Given the description of an element on the screen output the (x, y) to click on. 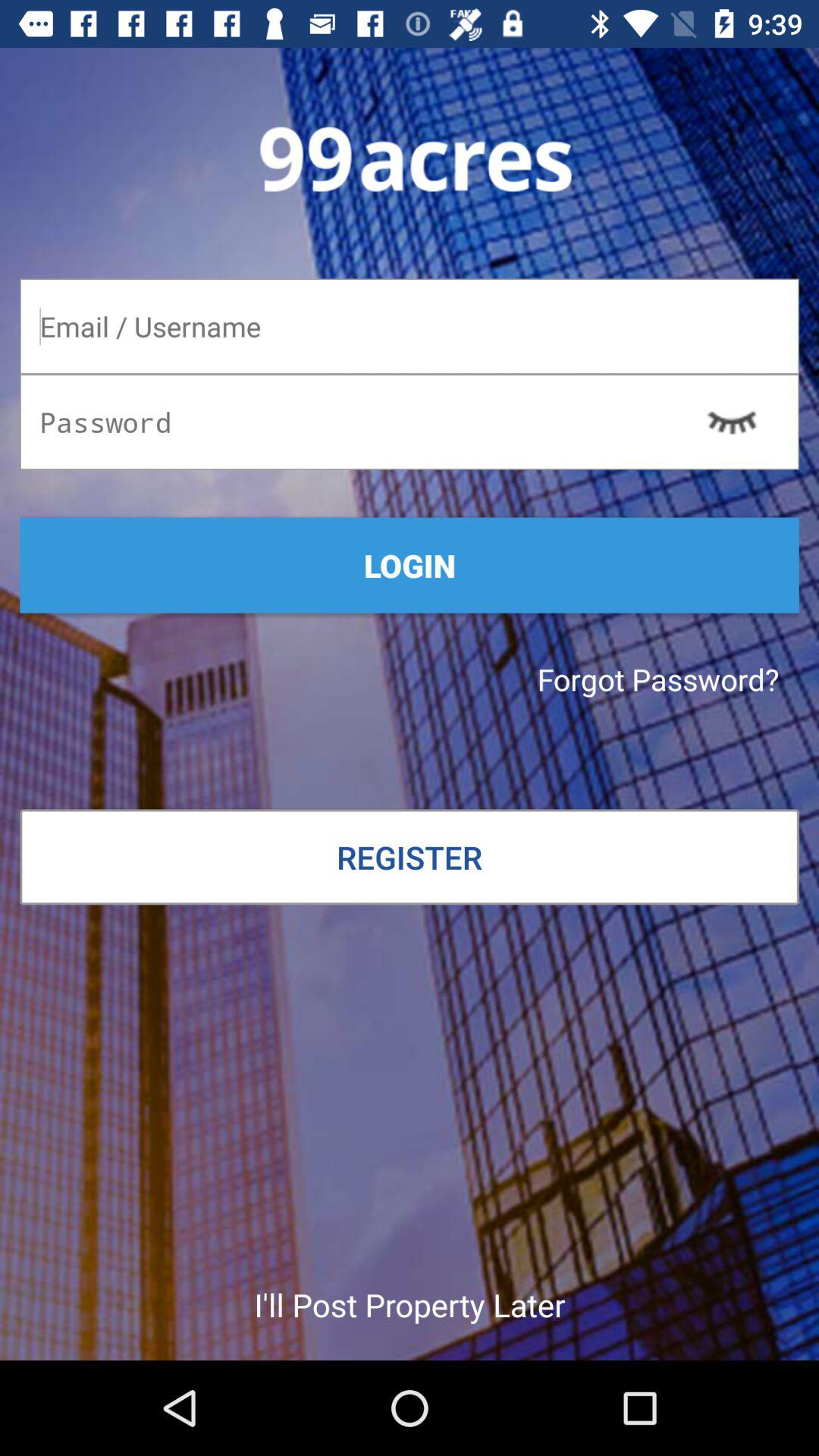
password to given (409, 421)
